Given the description of an element on the screen output the (x, y) to click on. 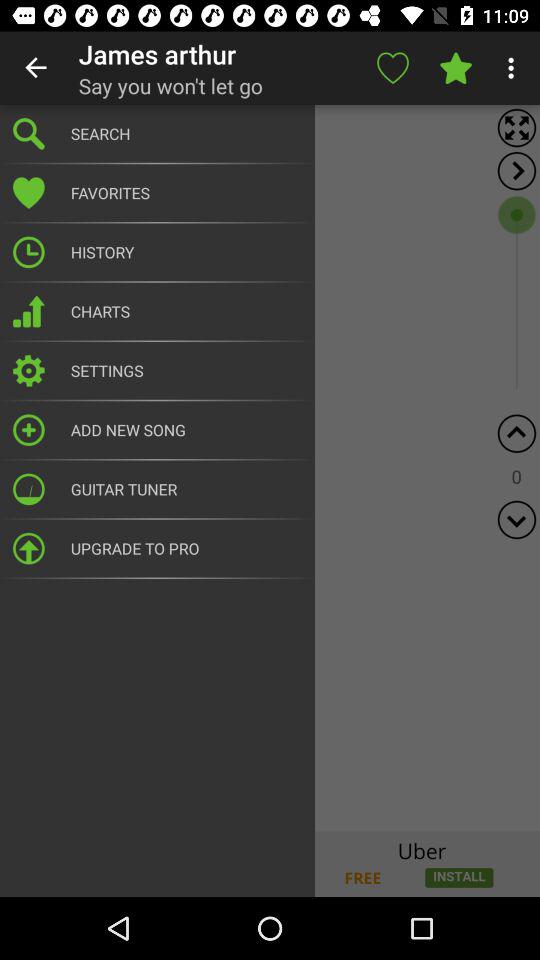
scroll down (516, 519)
